Given the description of an element on the screen output the (x, y) to click on. 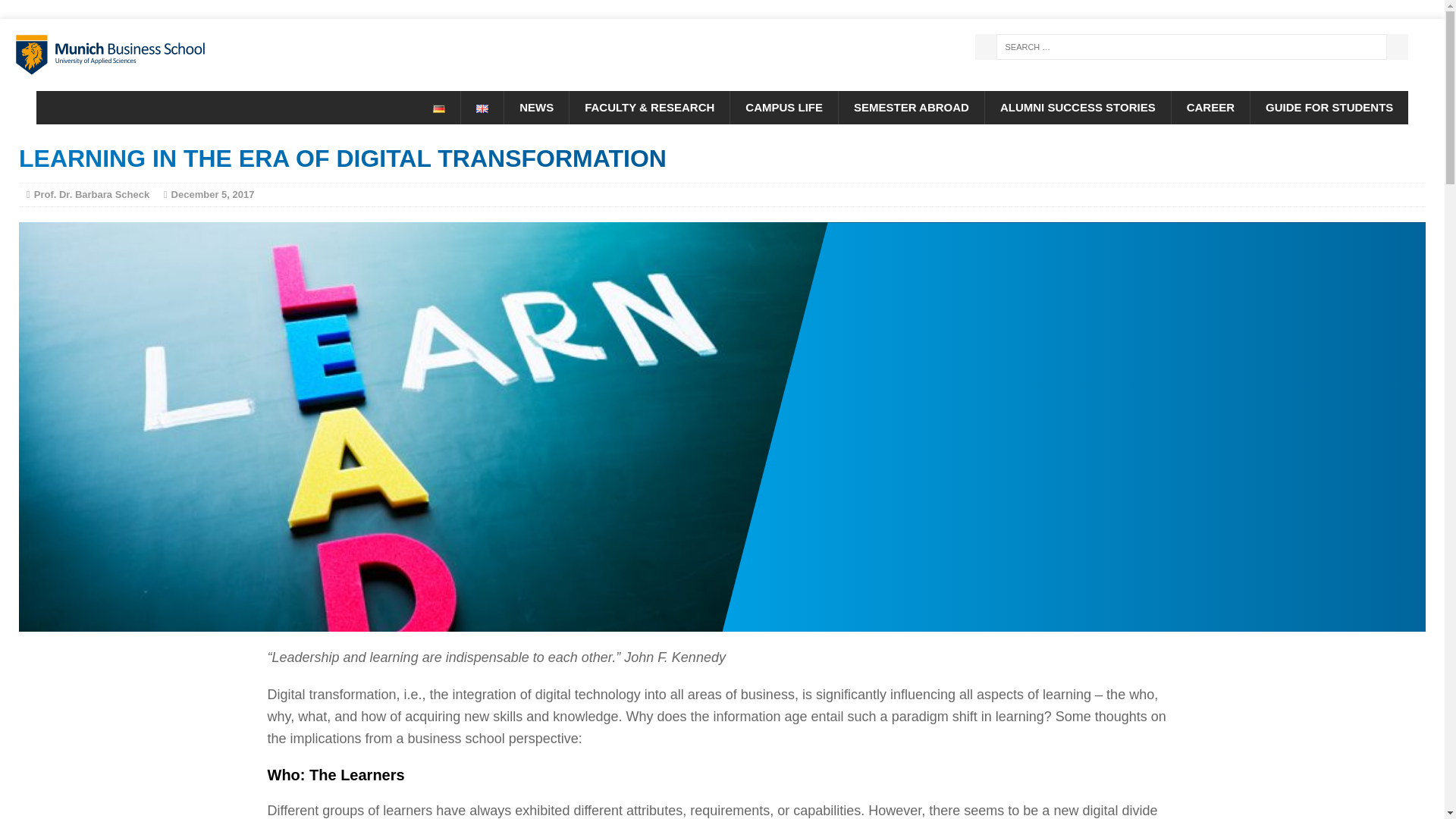
SEMESTER ABROAD (911, 107)
Munich Business School Homepage (228, 54)
Posts by Prof. Dr. Barbara Scheck (91, 194)
CAMPUS LIFE (783, 107)
Prof. Dr. Barbara Scheck (91, 194)
CAREER (1209, 107)
GUIDE FOR STUDENTS (1328, 107)
ALUMNI SUCCESS STORIES (1077, 107)
NEWS (536, 107)
December 5, 2017 (212, 194)
